Given the description of an element on the screen output the (x, y) to click on. 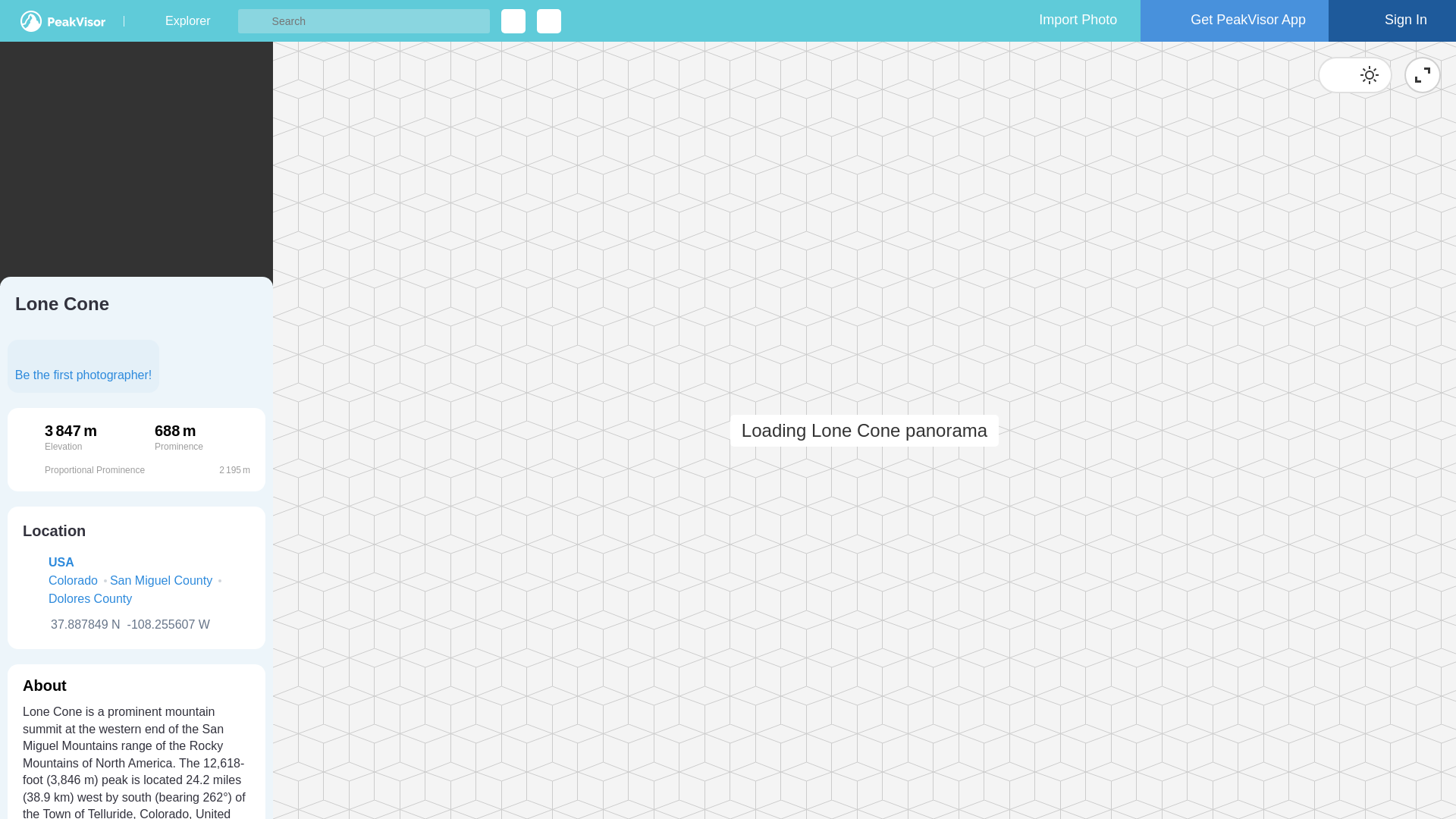
PeakVisor (62, 20)
USA (61, 562)
Import Photo (1064, 20)
Dolores County (90, 598)
Explorer (186, 20)
San Miguel County (161, 580)
Colorado (72, 580)
